Given the description of an element on the screen output the (x, y) to click on. 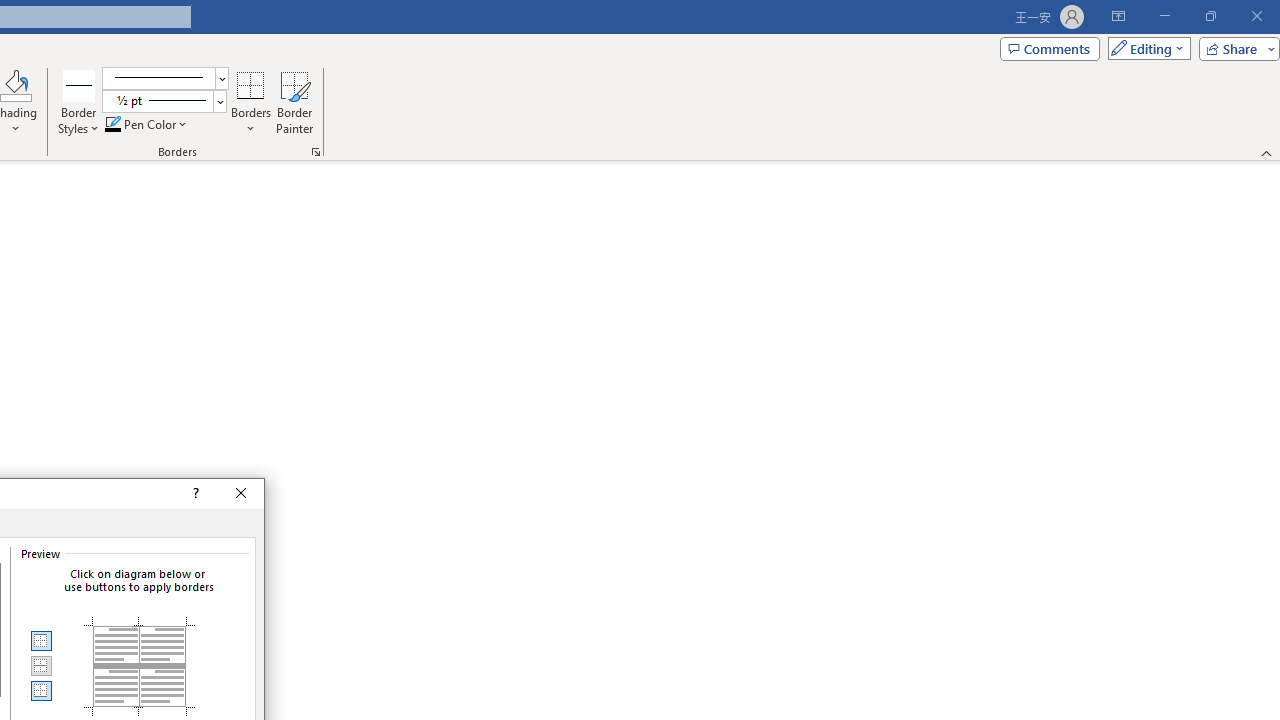
Inside Horizontal Border (40, 665)
Border Painter (294, 102)
Border Styles (79, 102)
Pen Color (147, 124)
MSO Generic Control Container (40, 641)
Borders and Shading... (315, 151)
